Given the description of an element on the screen output the (x, y) to click on. 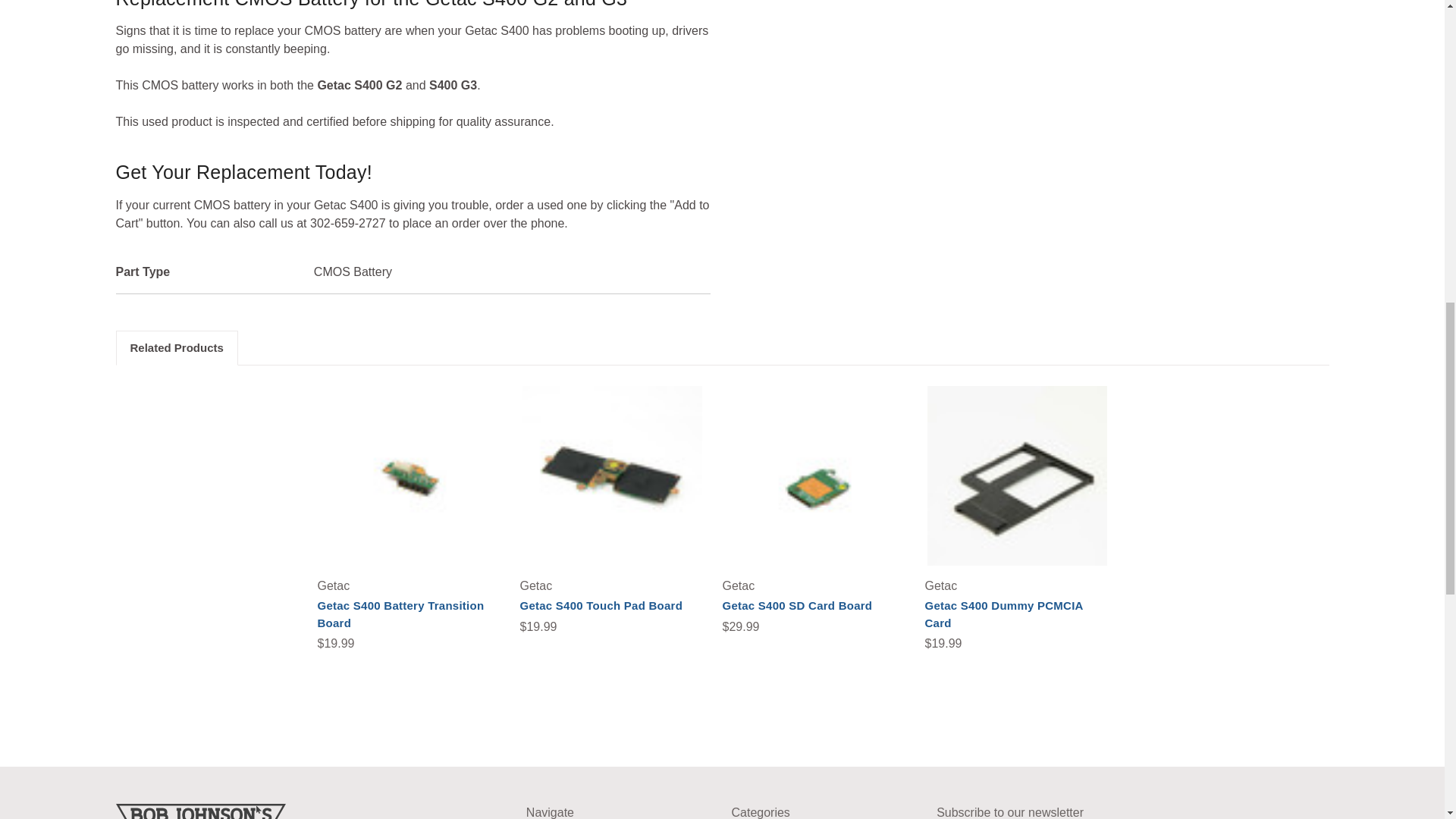
Getac S400 Touch Pad Board  (611, 475)
Getac S400 battery port  (409, 475)
Getac S400 dummy PCMCIA card (1016, 475)
Bob Johnson's Computer Stuff, Inc. (200, 811)
